Given the description of an element on the screen output the (x, y) to click on. 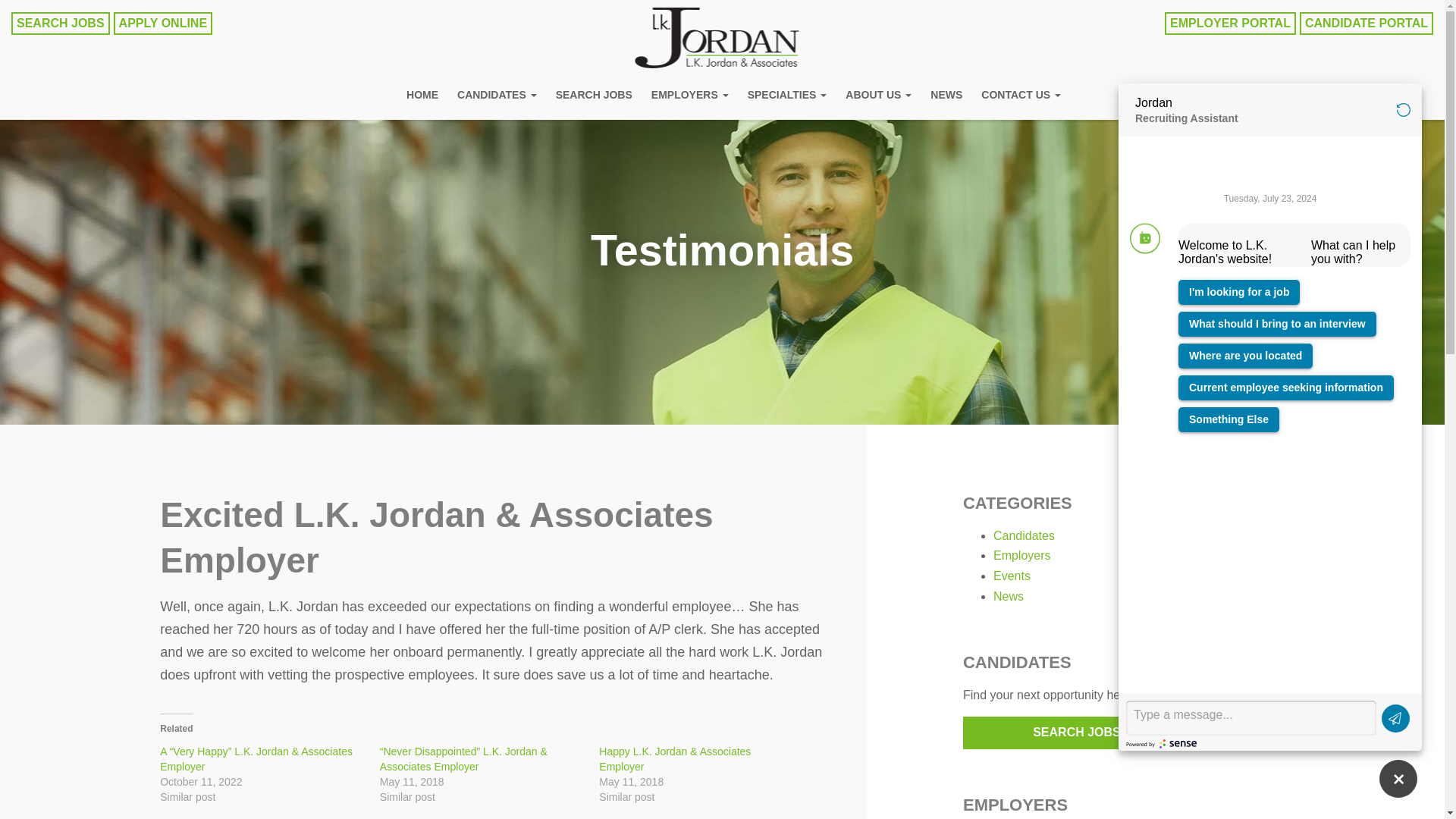
Home (421, 97)
EMPLOYERS (689, 97)
CANDIDATES (496, 97)
NEWS (946, 97)
ABOUT US (878, 97)
EMPLOYER PORTAL (1229, 23)
CONTACT US (1021, 97)
SPECIALTIES (786, 97)
SEARCH JOBS (60, 23)
CANDIDATE PORTAL (1366, 23)
HOME (421, 97)
Employers (689, 97)
SEARCH JOBS (594, 97)
APPLY ONLINE (162, 23)
Search Jobs (594, 97)
